Given the description of an element on the screen output the (x, y) to click on. 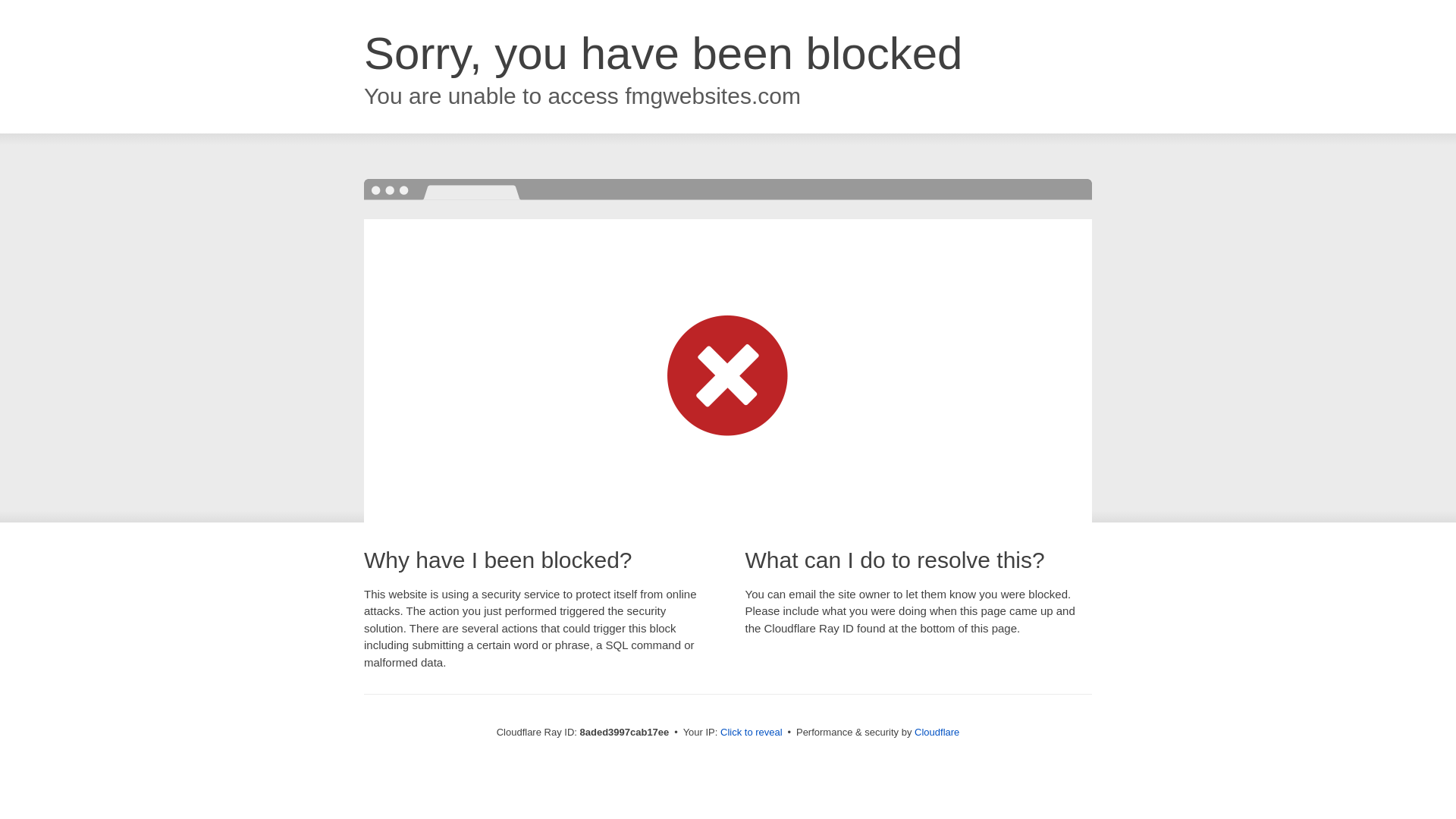
Cloudflare (936, 731)
Click to reveal (751, 732)
